Given the description of an element on the screen output the (x, y) to click on. 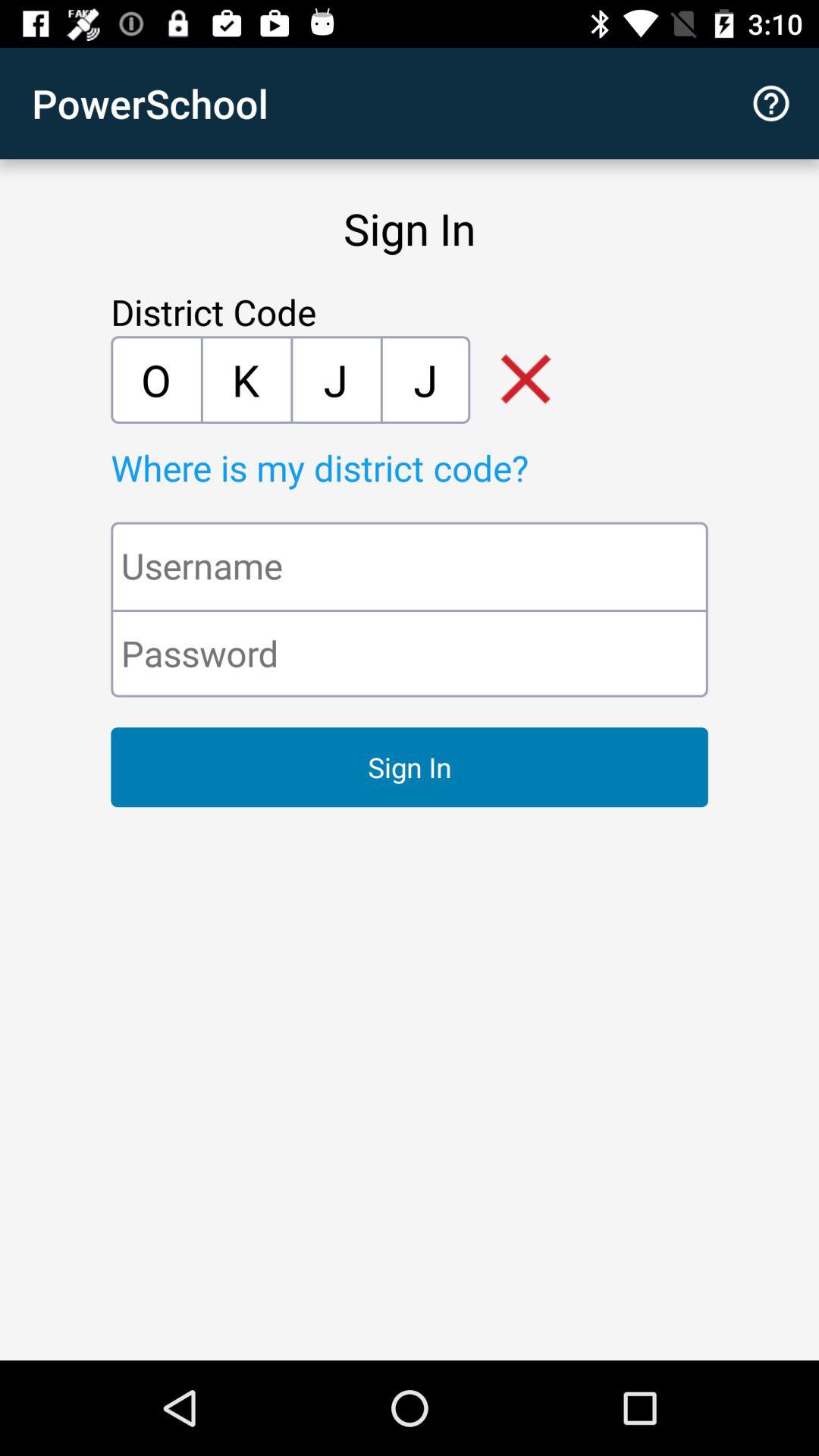
open icon to the right of the o (245, 379)
